Given the description of an element on the screen output the (x, y) to click on. 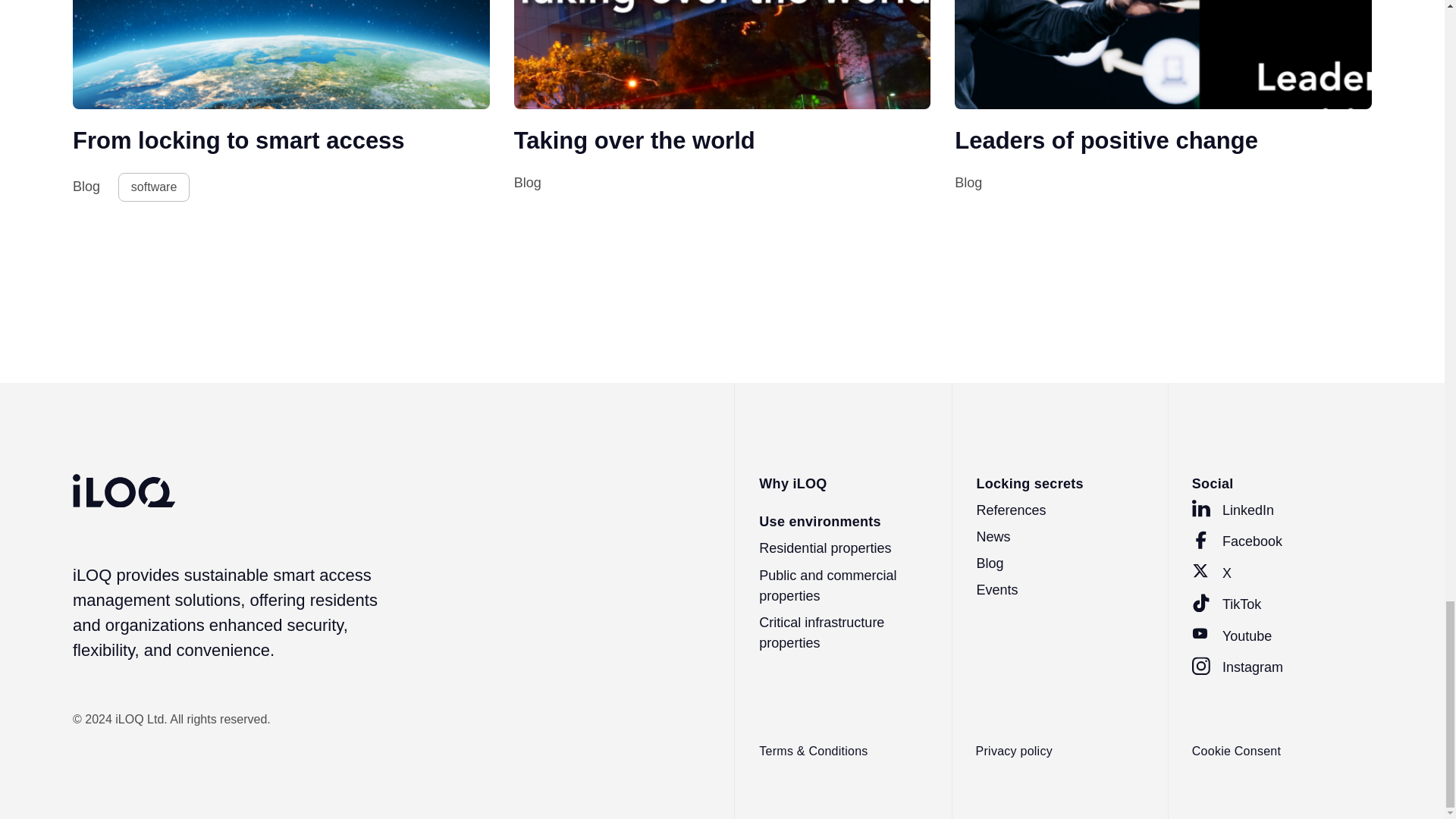
Leaders of positive change (1106, 140)
Taking over the world (634, 140)
From locking to smart access (238, 140)
